Given the description of an element on the screen output the (x, y) to click on. 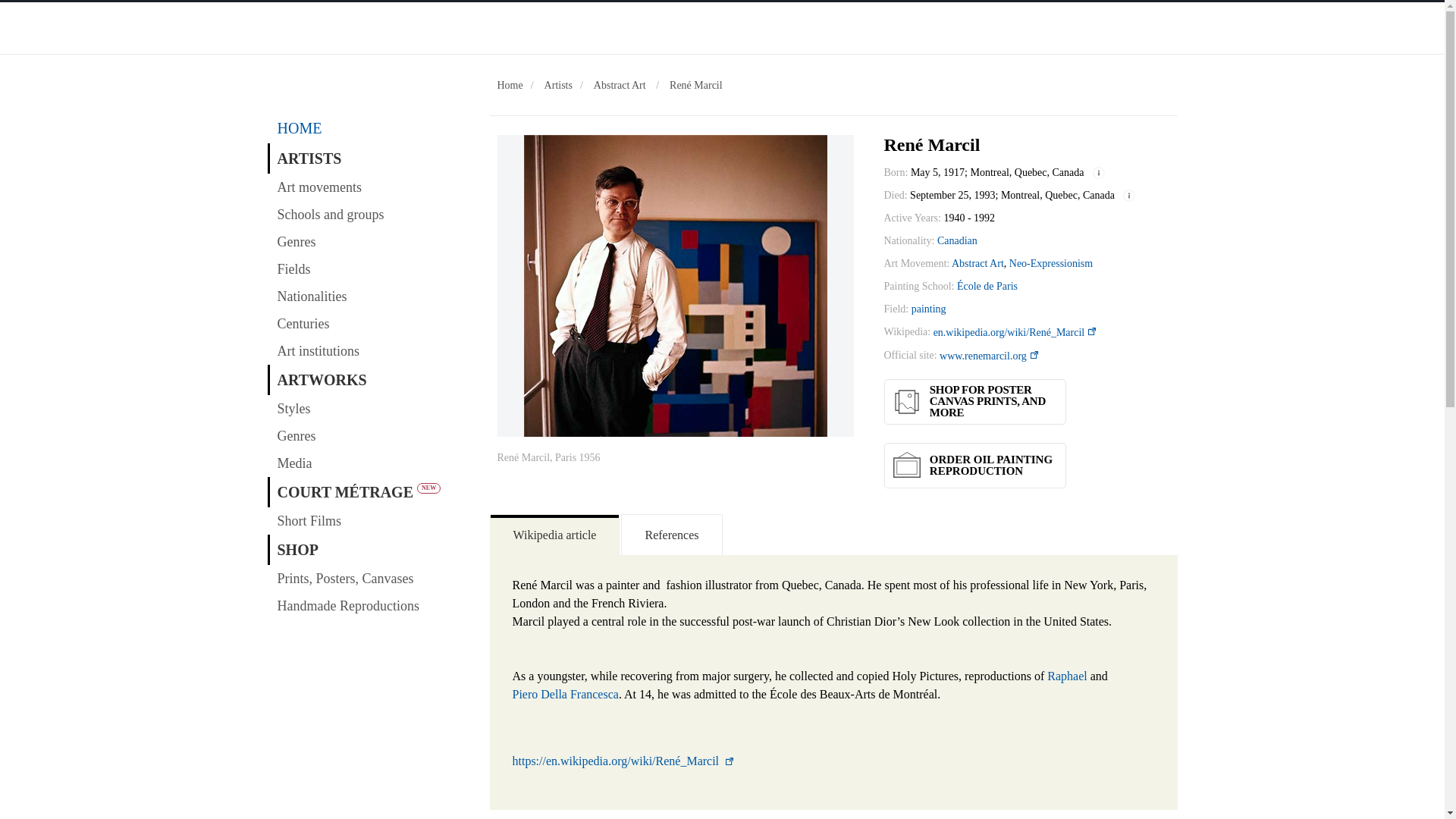
SHOP (370, 549)
Styles (370, 408)
Genres (370, 241)
Short Films (370, 520)
Art movements (370, 186)
Schools and groups (370, 214)
Art institutions (370, 350)
ARTWORKS (370, 379)
Handmade Reproductions (370, 605)
Artists (558, 84)
Home (509, 84)
Prints, Posters, Canvases (370, 578)
Media (370, 462)
Genres (370, 435)
HOME (370, 128)
